Given the description of an element on the screen output the (x, y) to click on. 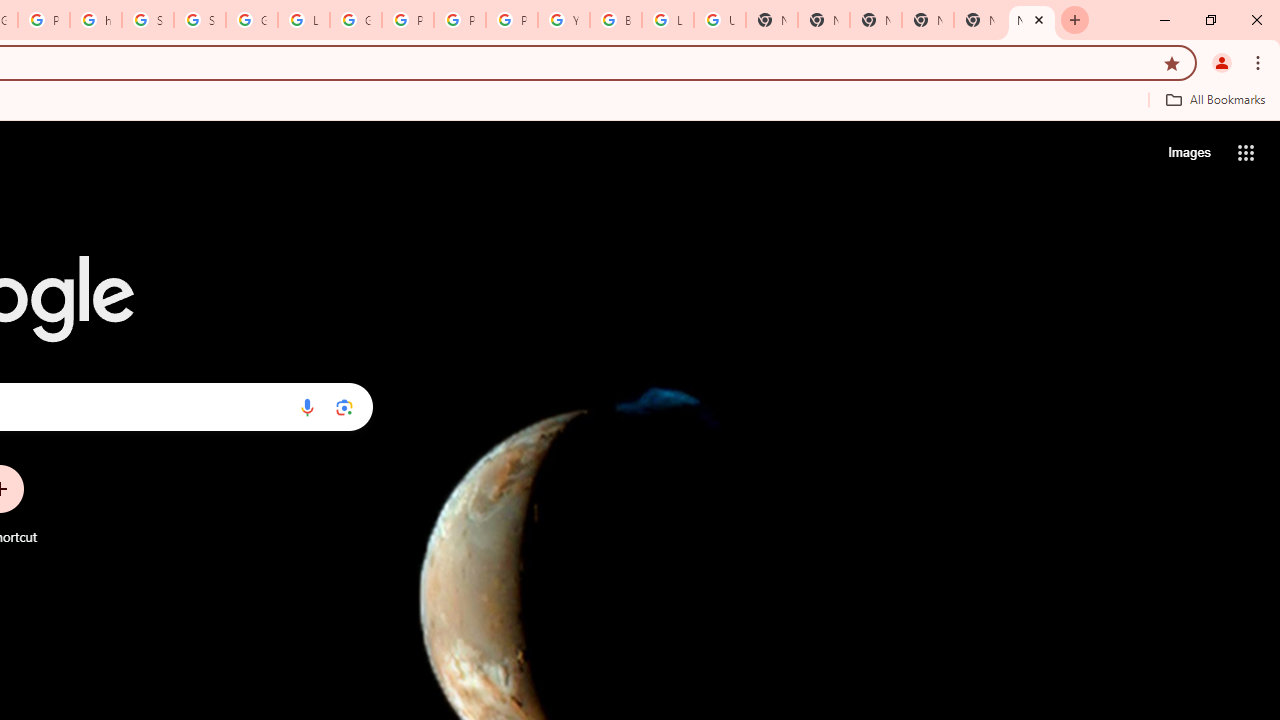
Sign in - Google Accounts (147, 20)
New Tab (979, 20)
Privacy Help Center - Policies Help (459, 20)
